Given the description of an element on the screen output the (x, y) to click on. 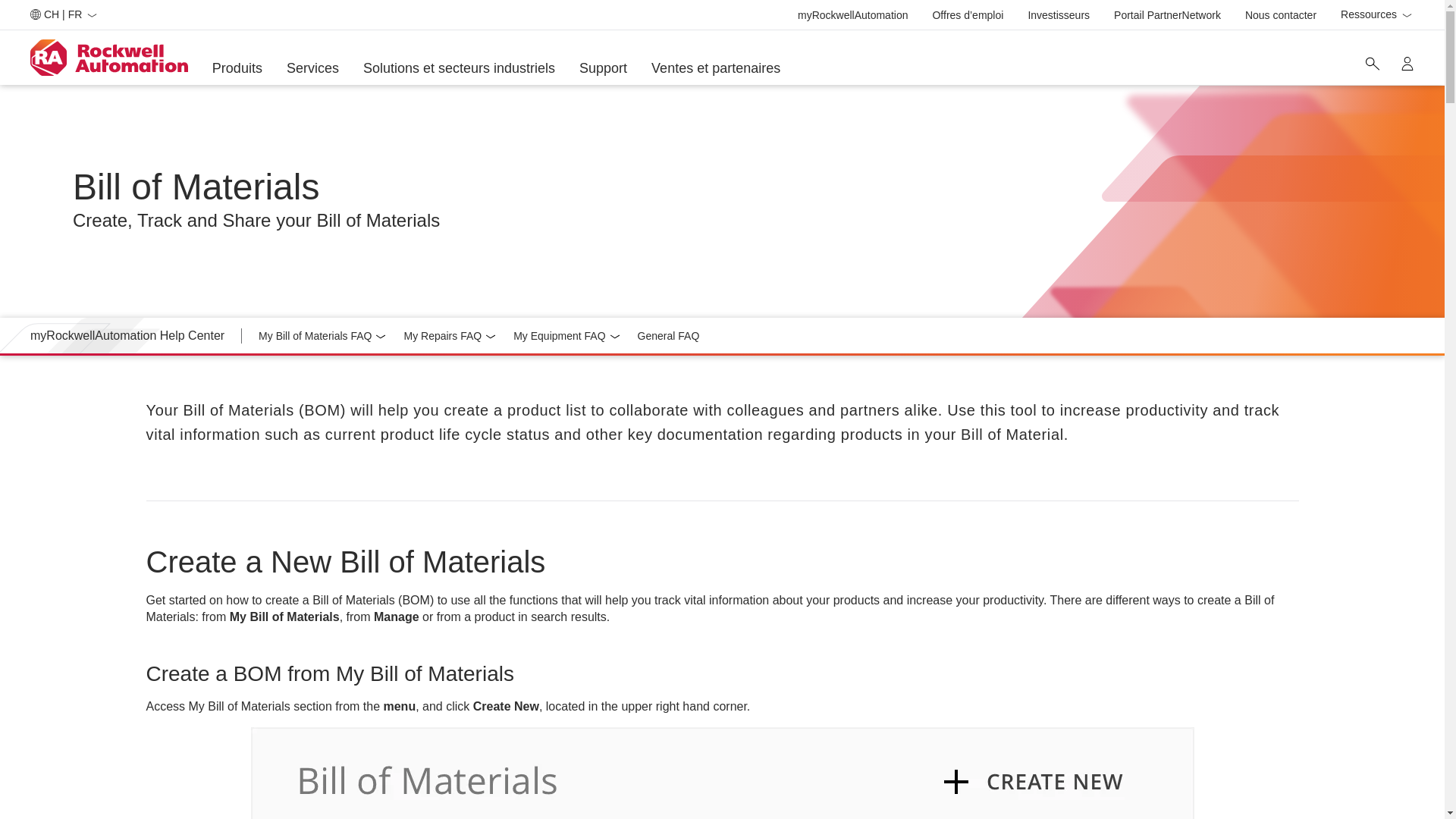
Chevron DownChevron Down (91, 15)
Chevron DownChevron Down (1406, 15)
myRockwellAutomation (852, 15)
Chevron DownChevron Down (1376, 15)
SearchSearch (615, 336)
Produits (1371, 63)
Chevron DownChevron Down (237, 68)
Investisseurs (380, 336)
Portail PartnerNetwork (1058, 15)
UserUser (1167, 15)
Nous contacter (1406, 63)
Chevron DownChevron Down (1280, 15)
